Given the description of an element on the screen output the (x, y) to click on. 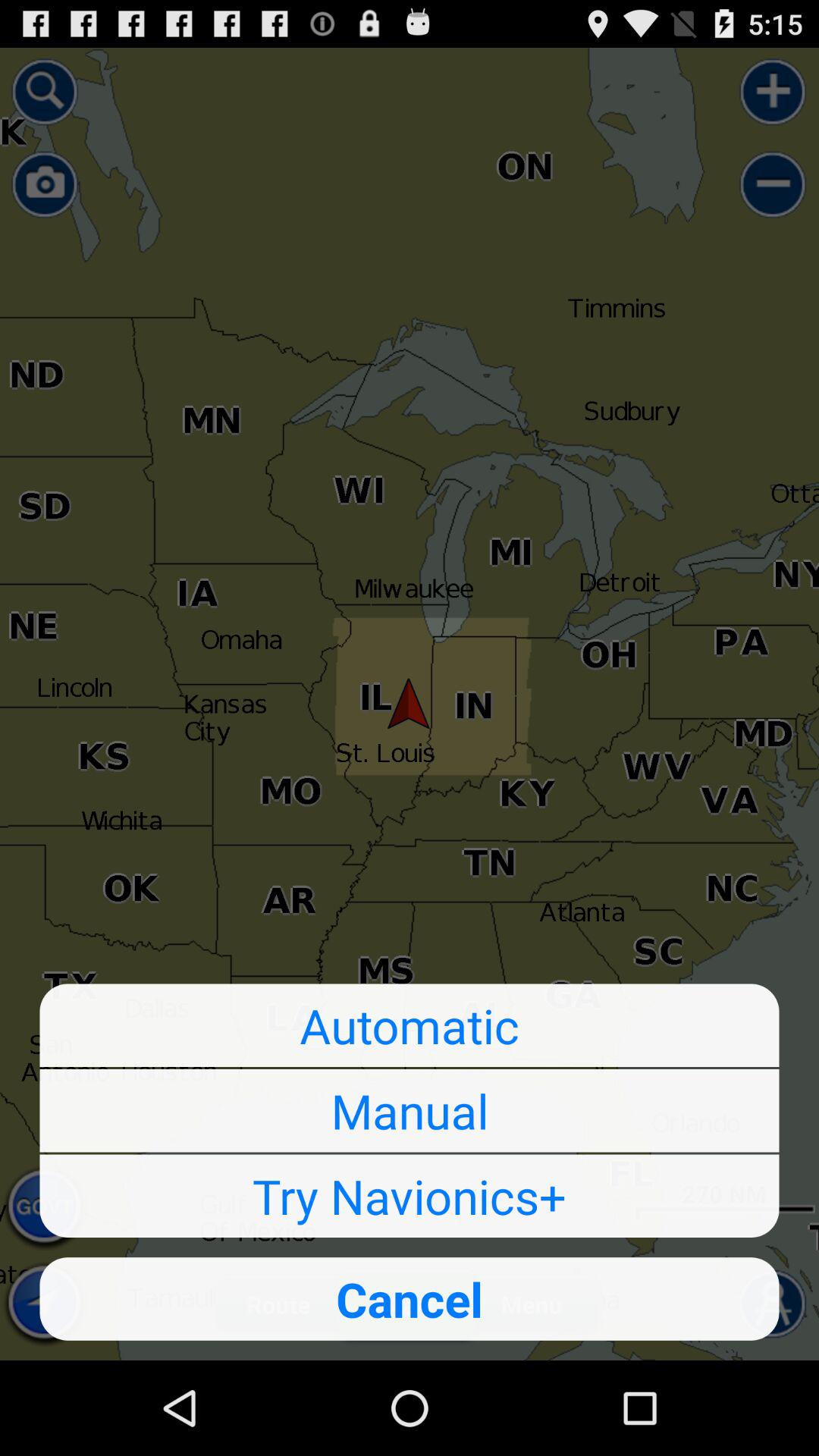
press icon above cancel item (409, 1195)
